Given the description of an element on the screen output the (x, y) to click on. 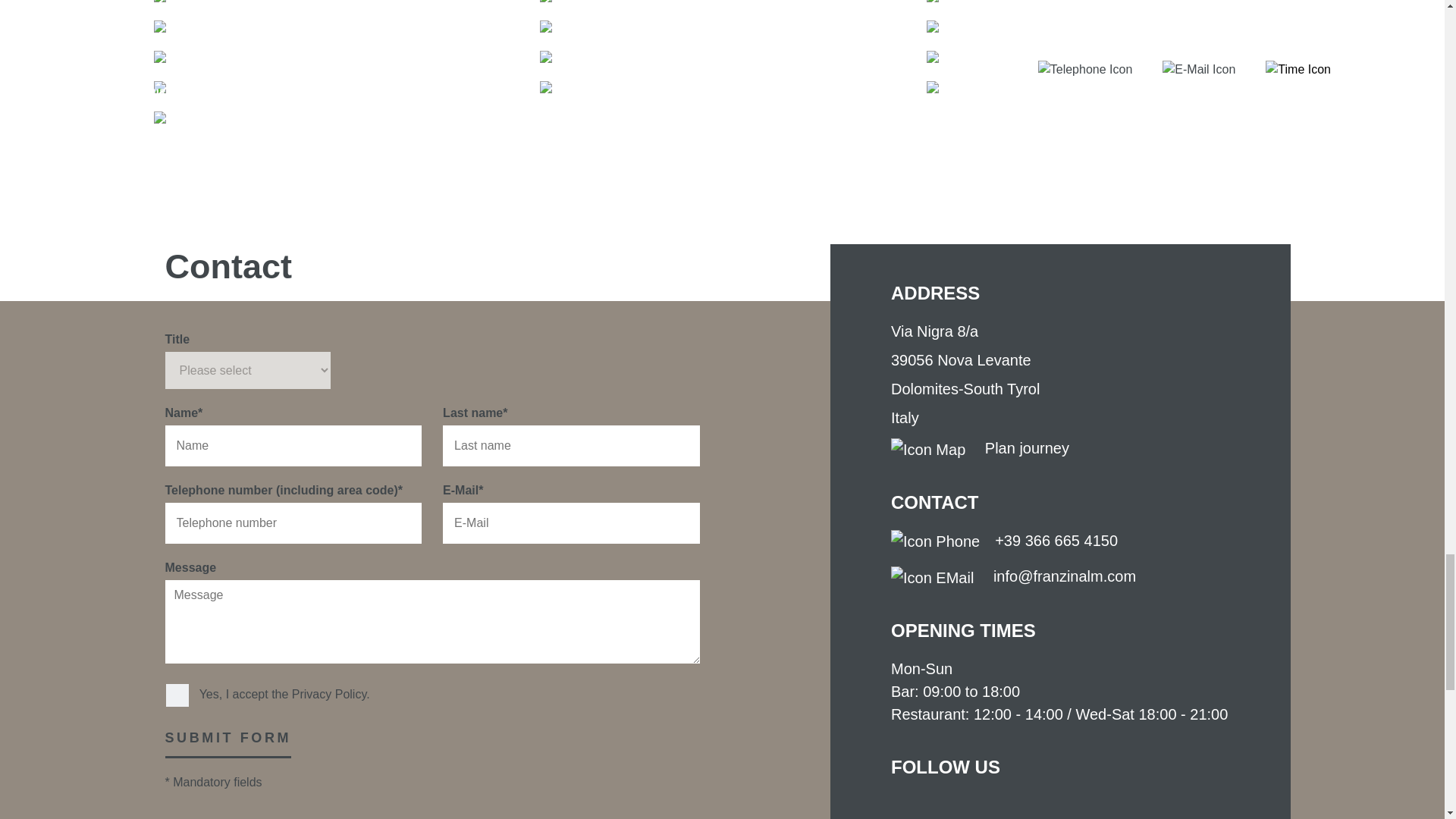
Plan journey (979, 448)
Submit form (228, 743)
